Given the description of an element on the screen output the (x, y) to click on. 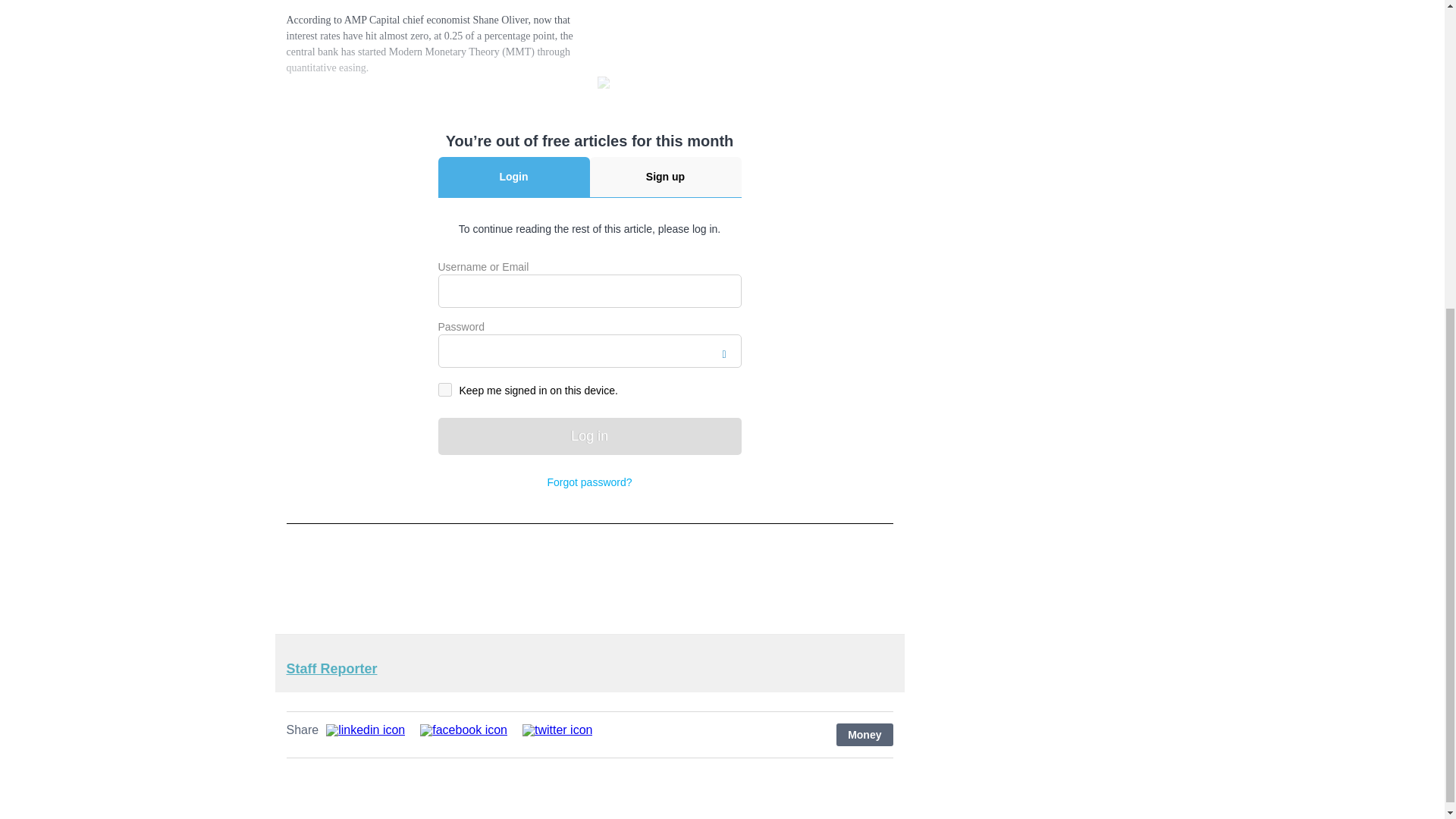
Zoom In (604, 84)
Log in (589, 436)
on (444, 389)
